Given the description of an element on the screen output the (x, y) to click on. 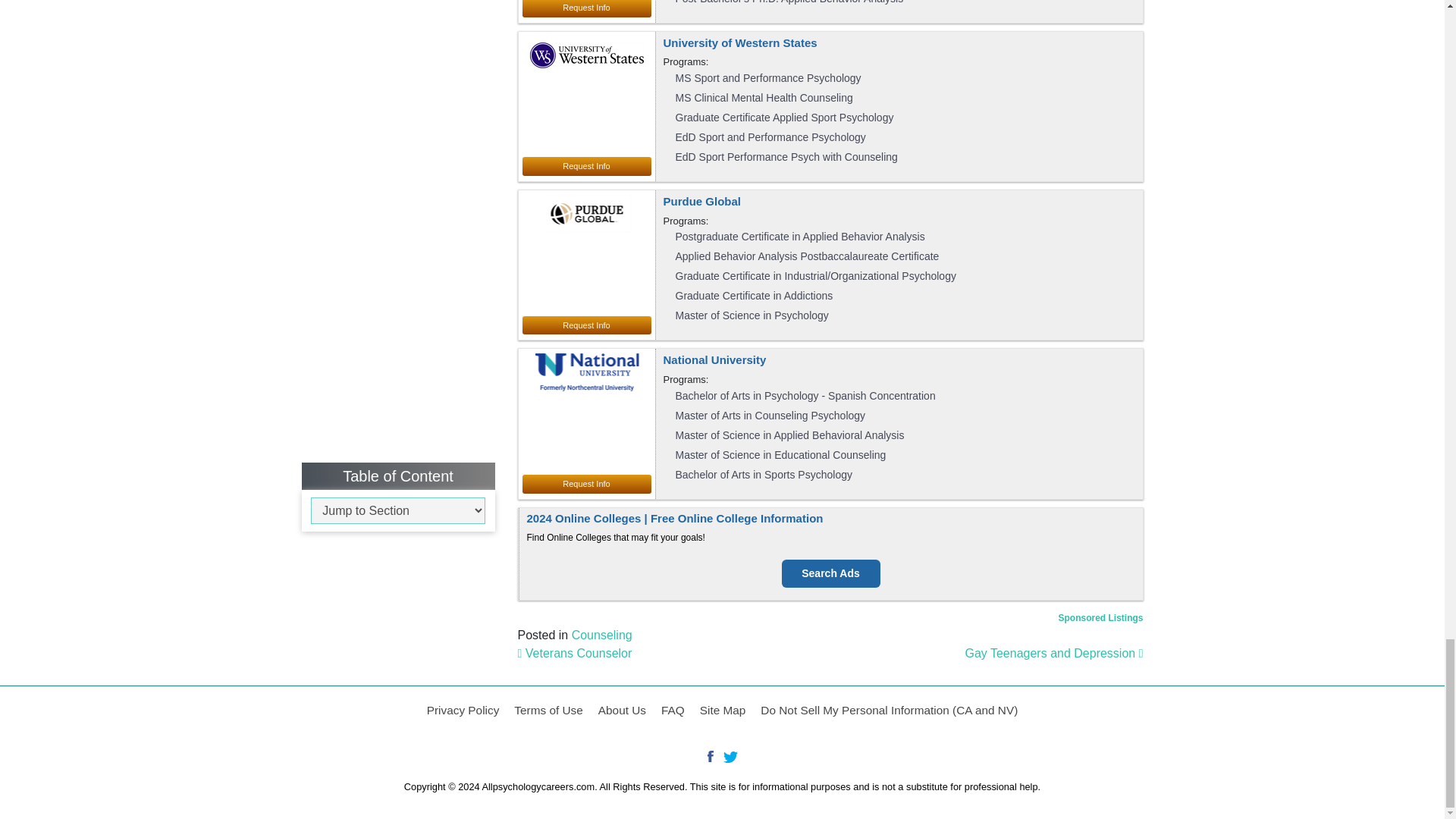
Facebook (712, 759)
Twitter (730, 759)
